Given the description of an element on the screen output the (x, y) to click on. 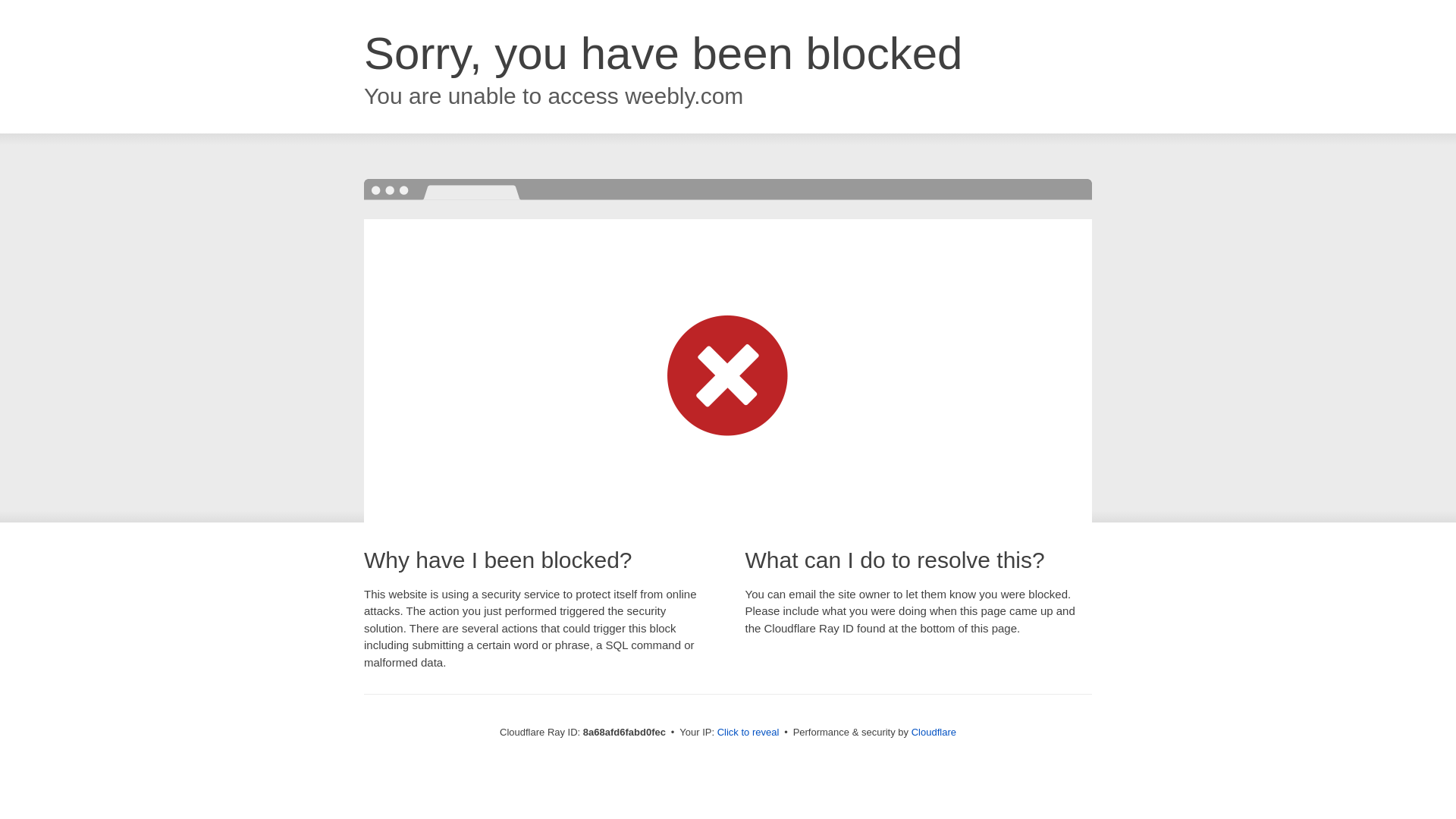
Cloudflare (933, 731)
Click to reveal (747, 732)
